Given the description of an element on the screen output the (x, y) to click on. 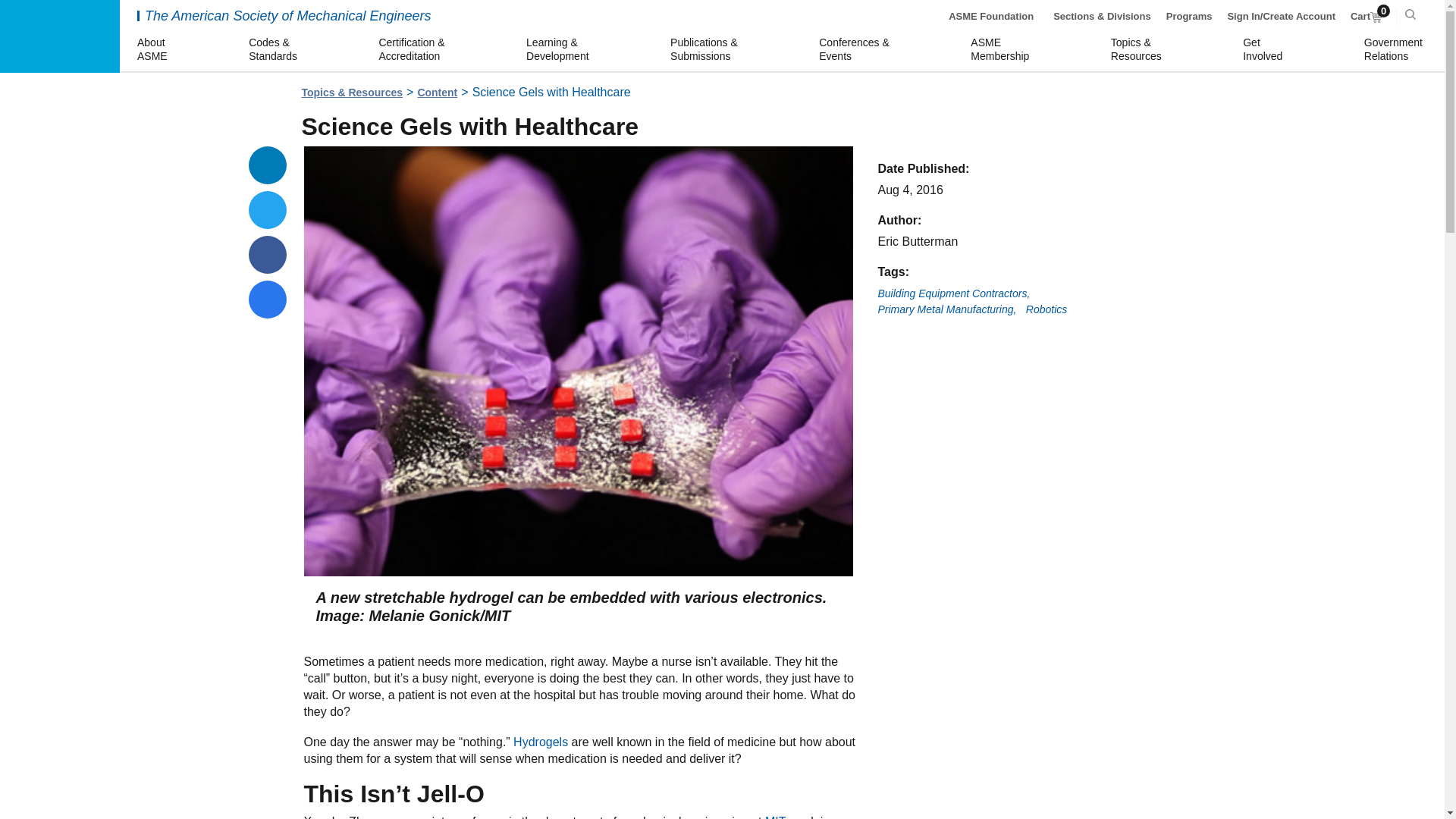
ASME (59, 36)
MIT (774, 816)
Share on Facebook (267, 254)
Hydrogels (540, 741)
Primary Metal Manufacturing (946, 309)
Content (436, 92)
Share on LinkedIn (267, 165)
Share on Twitter (1366, 16)
